Given the description of an element on the screen output the (x, y) to click on. 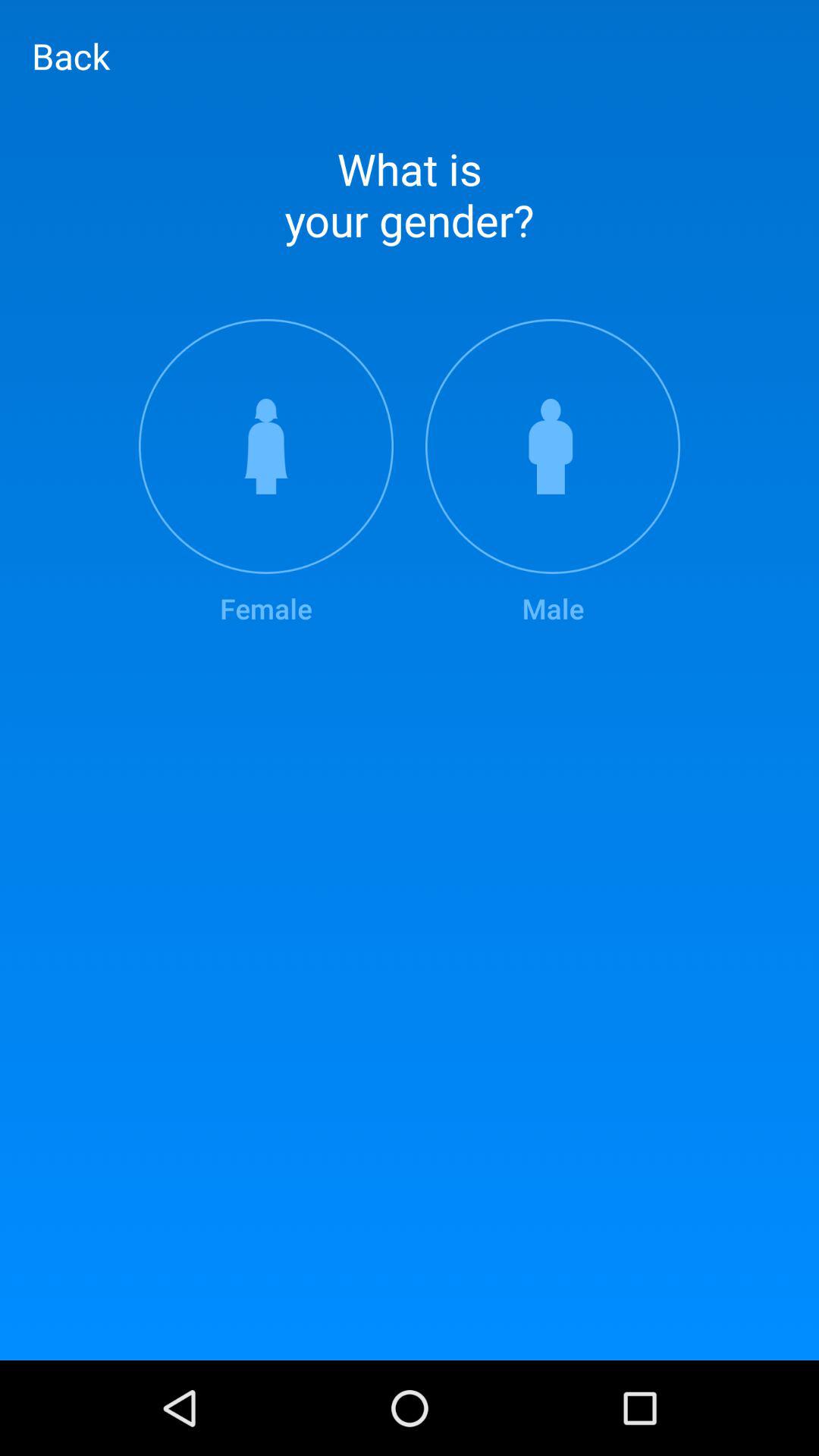
click item above what is your (70, 55)
